Given the description of an element on the screen output the (x, y) to click on. 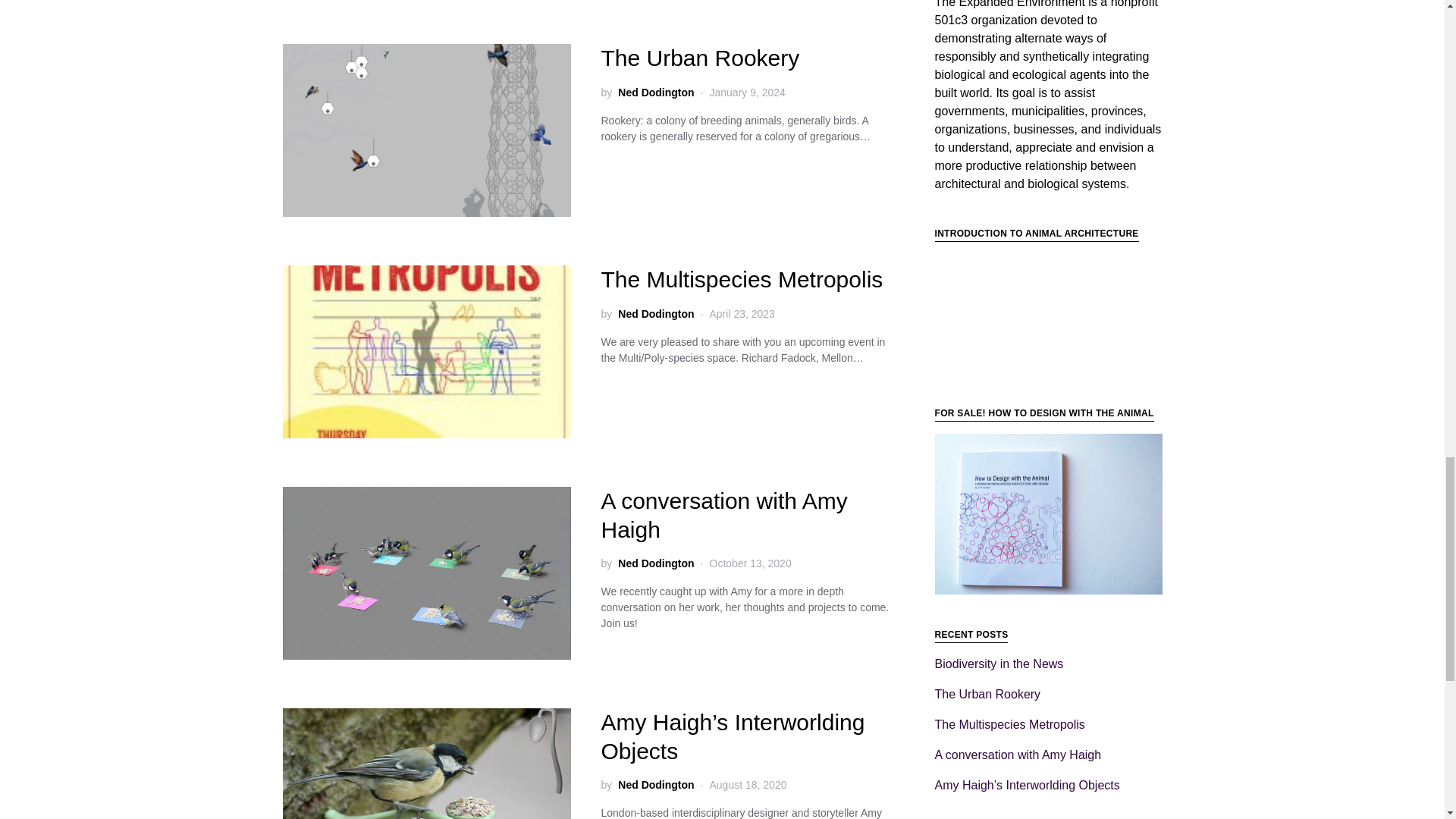
View all posts by Ned Dodington (655, 314)
View all posts by Ned Dodington (655, 563)
View all posts by Ned Dodington (655, 92)
View all posts by Ned Dodington (655, 785)
